Given the description of an element on the screen output the (x, y) to click on. 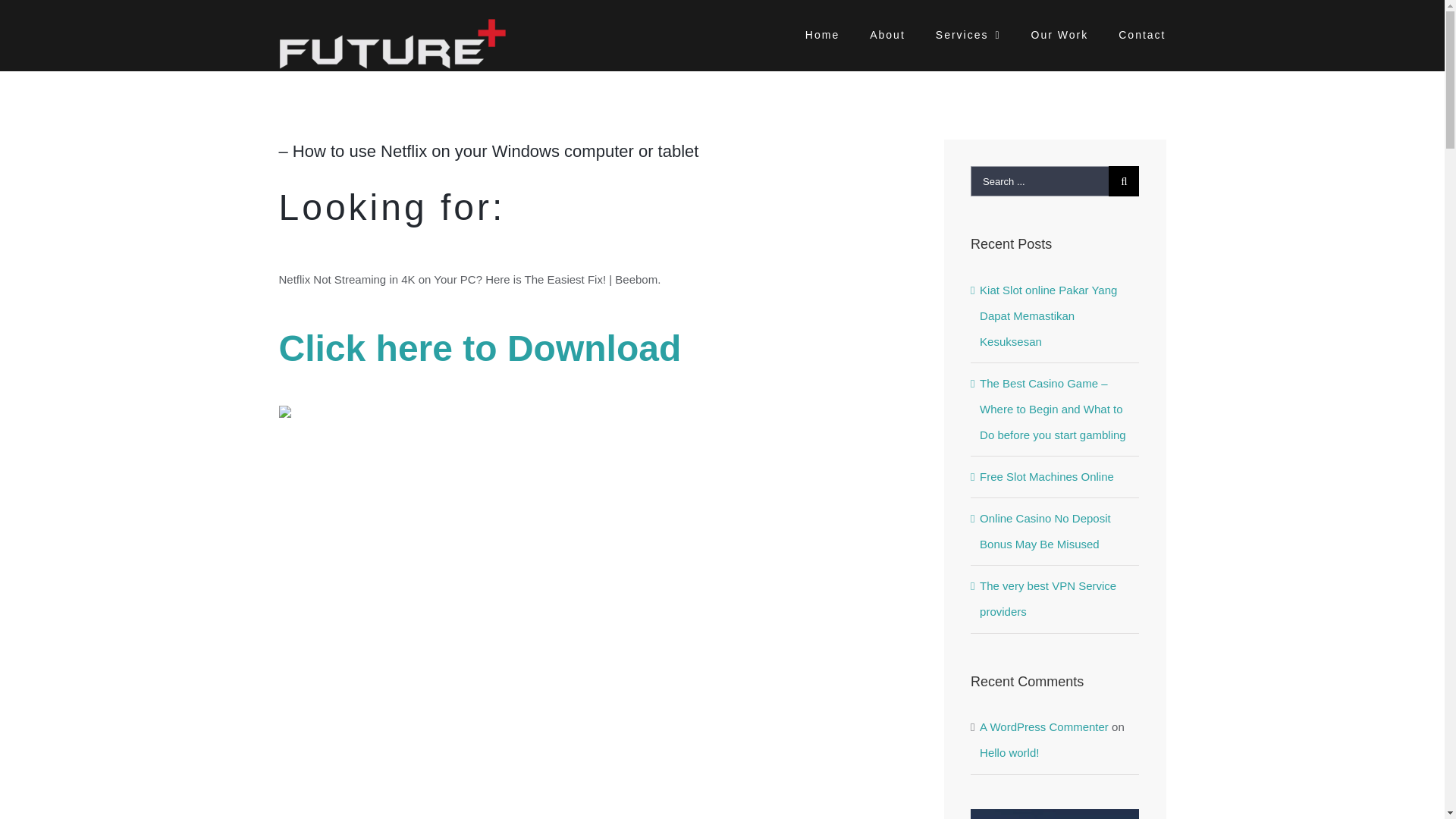
Contact (1142, 33)
Services (968, 33)
Our Work (1059, 33)
Click here to Download (480, 356)
Home (822, 33)
About (887, 33)
